Given the description of an element on the screen output the (x, y) to click on. 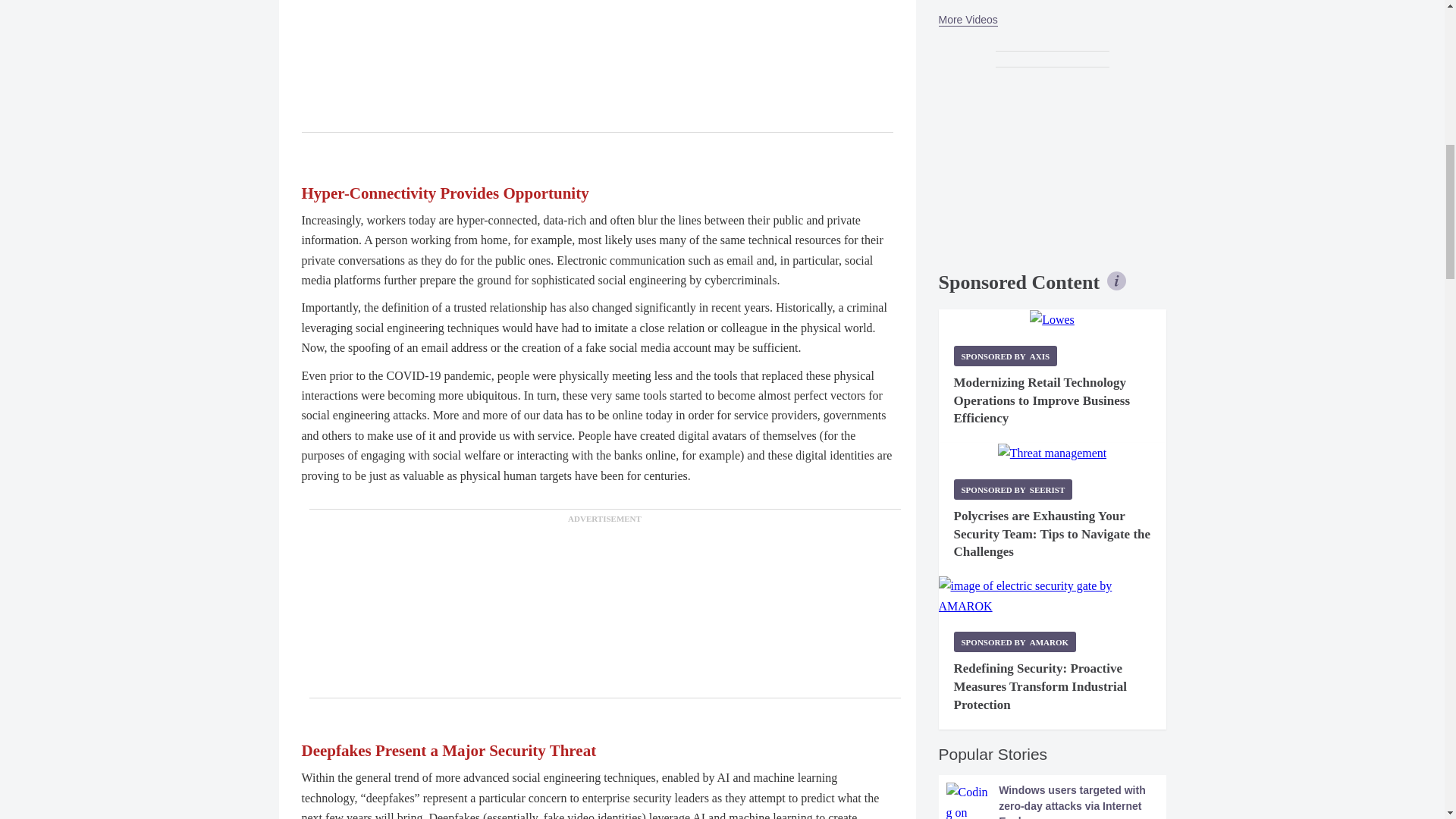
Sponsored by Axis (1005, 355)
Threat management (1051, 453)
AMAROK Security Gate (1052, 596)
Sponsored by AMAROK (1015, 641)
Sponsored by Seerist (1013, 489)
Lowes (1051, 320)
